Given the description of an element on the screen output the (x, y) to click on. 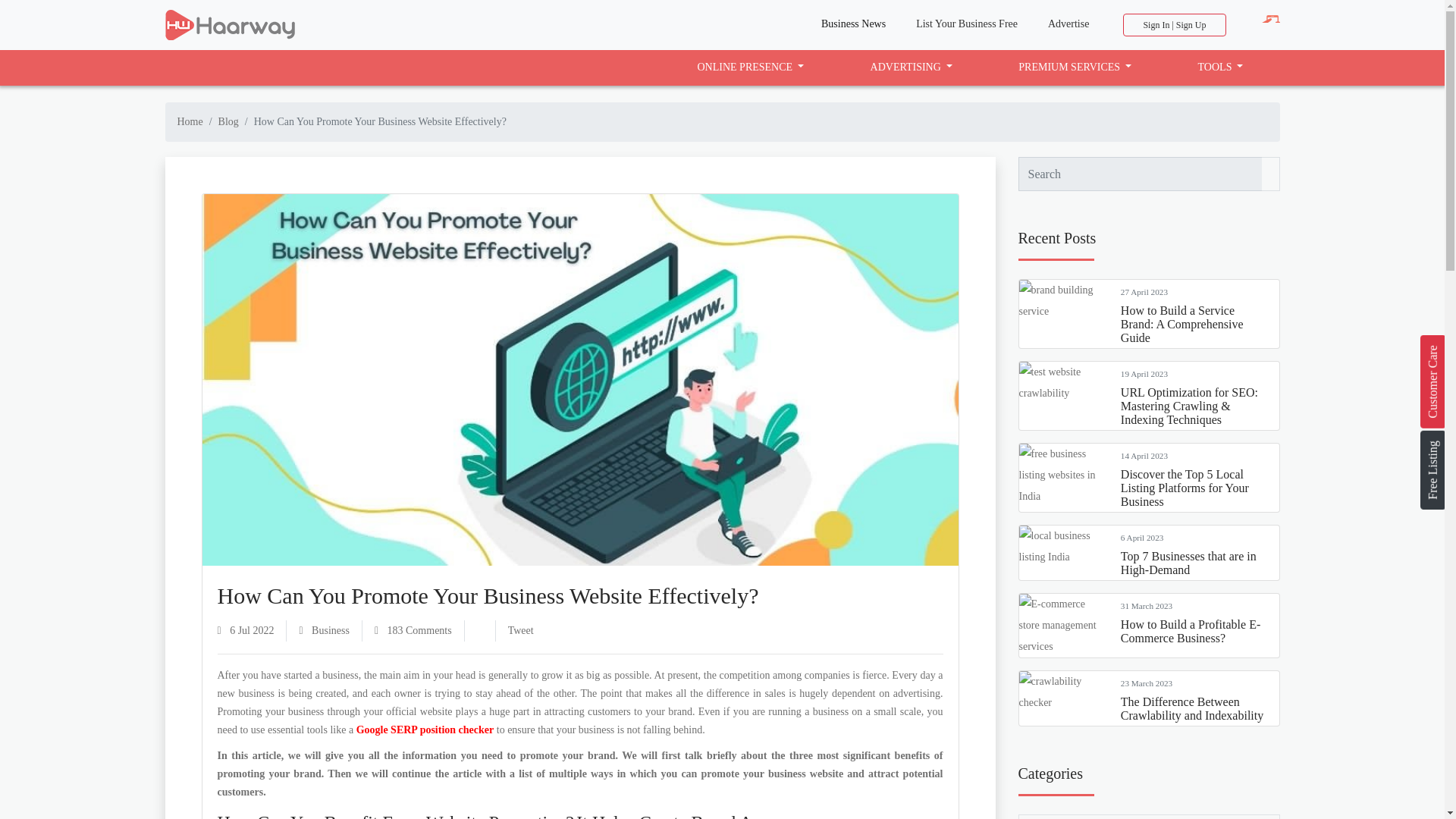
Advertise (1067, 23)
List Your Business Free (966, 23)
top free business listing sites india (230, 24)
Business News (853, 23)
ONLINE PRESENCE (751, 66)
